Given the description of an element on the screen output the (x, y) to click on. 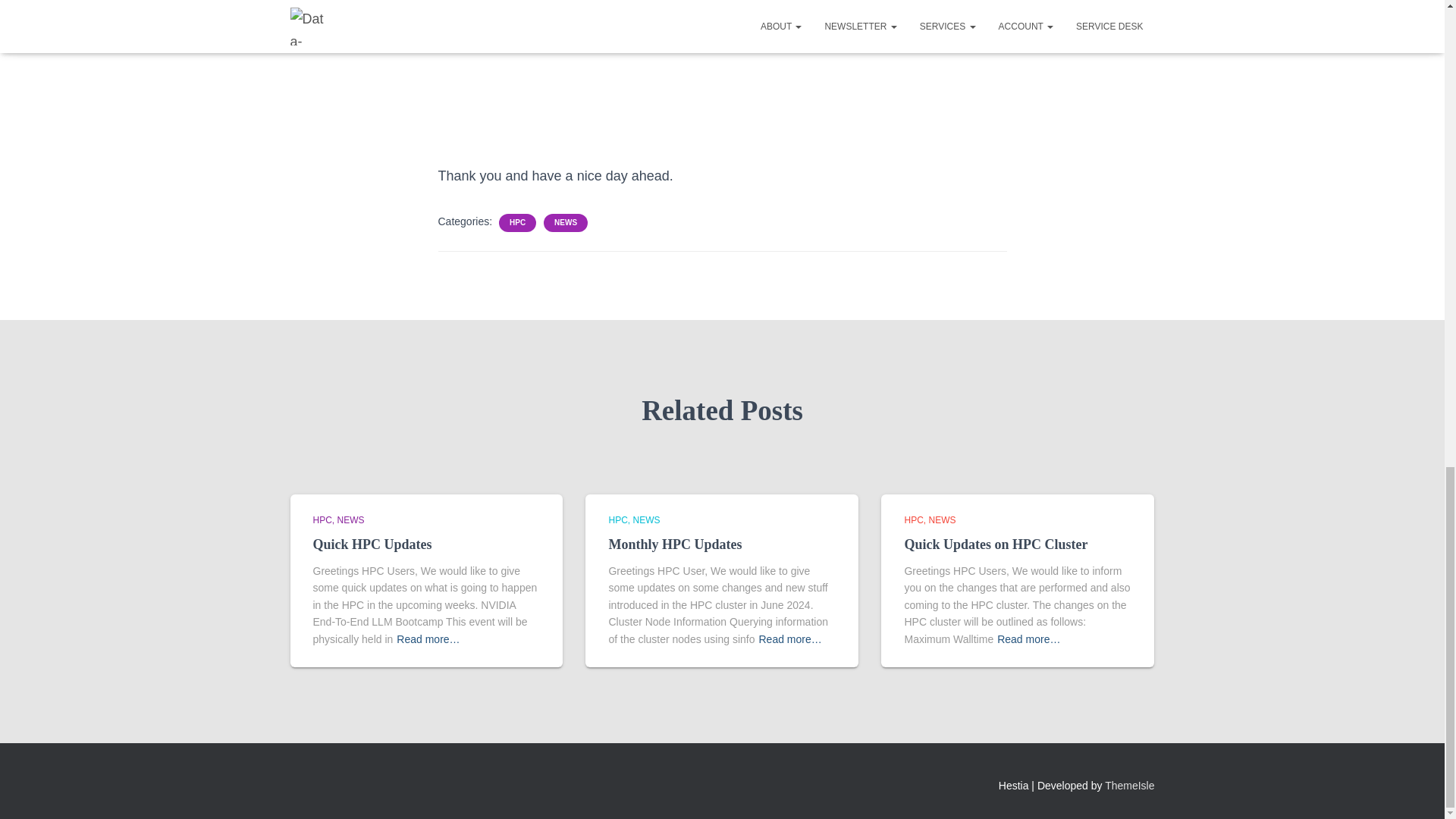
NEWS (645, 520)
NEWS (941, 520)
HPC (517, 222)
HPC (619, 520)
Monthly HPC Updates (674, 544)
Quick Updates on HPC Cluster (995, 544)
NEWS (565, 222)
HPC (324, 520)
Quick HPC Updates (371, 544)
NEWS (351, 520)
HPC (916, 520)
